Given the description of an element on the screen output the (x, y) to click on. 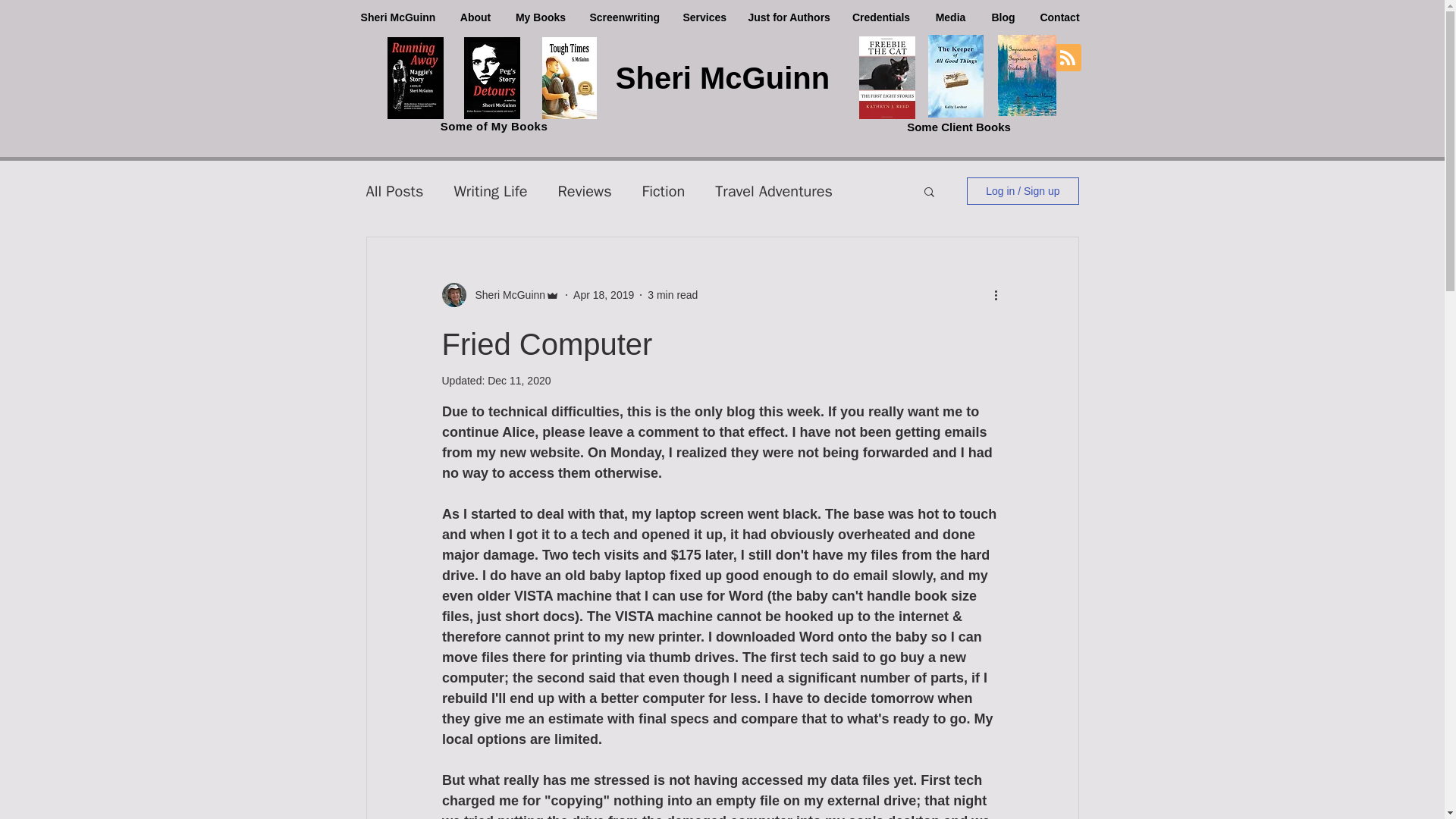
3 min read (672, 294)
Writing Life (489, 190)
Fiction (663, 190)
All Posts (394, 190)
Contact (1058, 17)
Sheri McGuinn (504, 294)
Travel Adventures (773, 190)
Credentials (880, 17)
Sheri McGuinn (397, 17)
Blog (1002, 17)
Just for Authors (787, 17)
Screenwriting (624, 17)
About (474, 17)
Reviews (584, 190)
Dec 11, 2020 (518, 380)
